Given the description of an element on the screen output the (x, y) to click on. 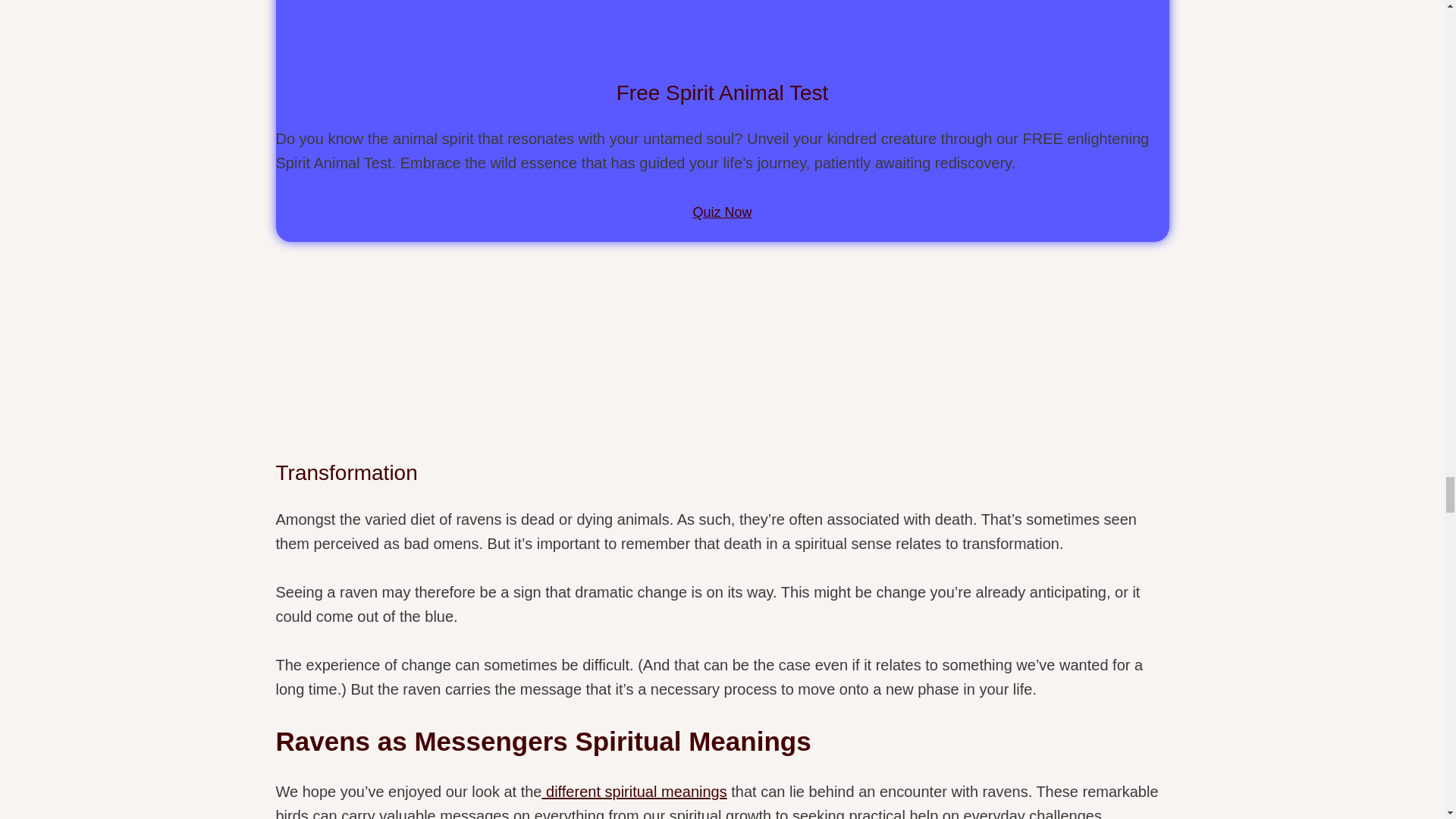
Quiz Now (721, 211)
different spiritual meanings (633, 791)
